Given the description of an element on the screen output the (x, y) to click on. 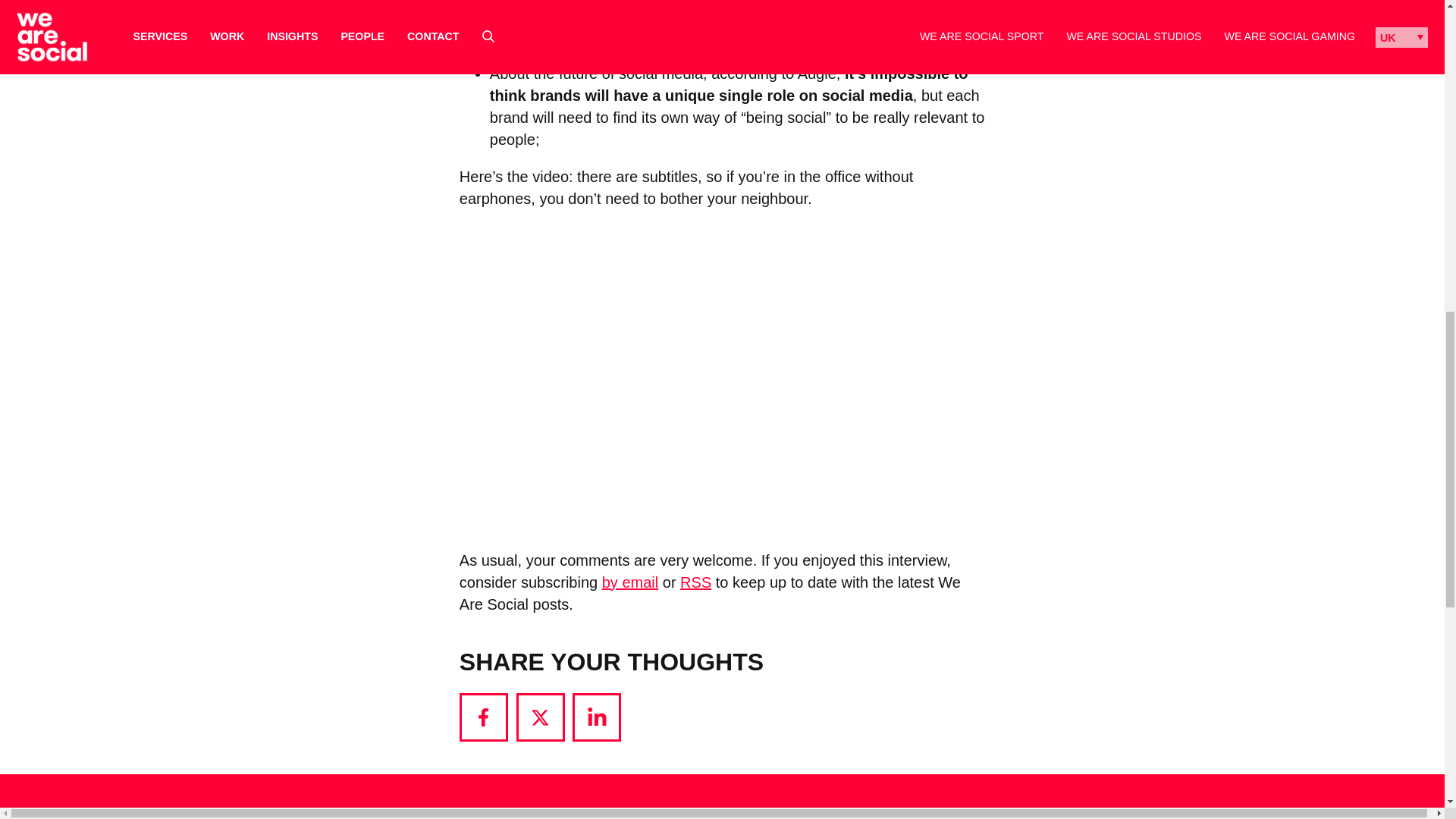
RSS (695, 582)
The value of a Facebook fan is zero (617, 7)
Share via Facebook (484, 717)
Share via Twitter (540, 717)
Share via LinkedIn (596, 717)
Share via LinkedIn (596, 717)
Share via Facebook (484, 717)
Share via Twitter (540, 717)
by email (630, 582)
